Given the description of an element on the screen output the (x, y) to click on. 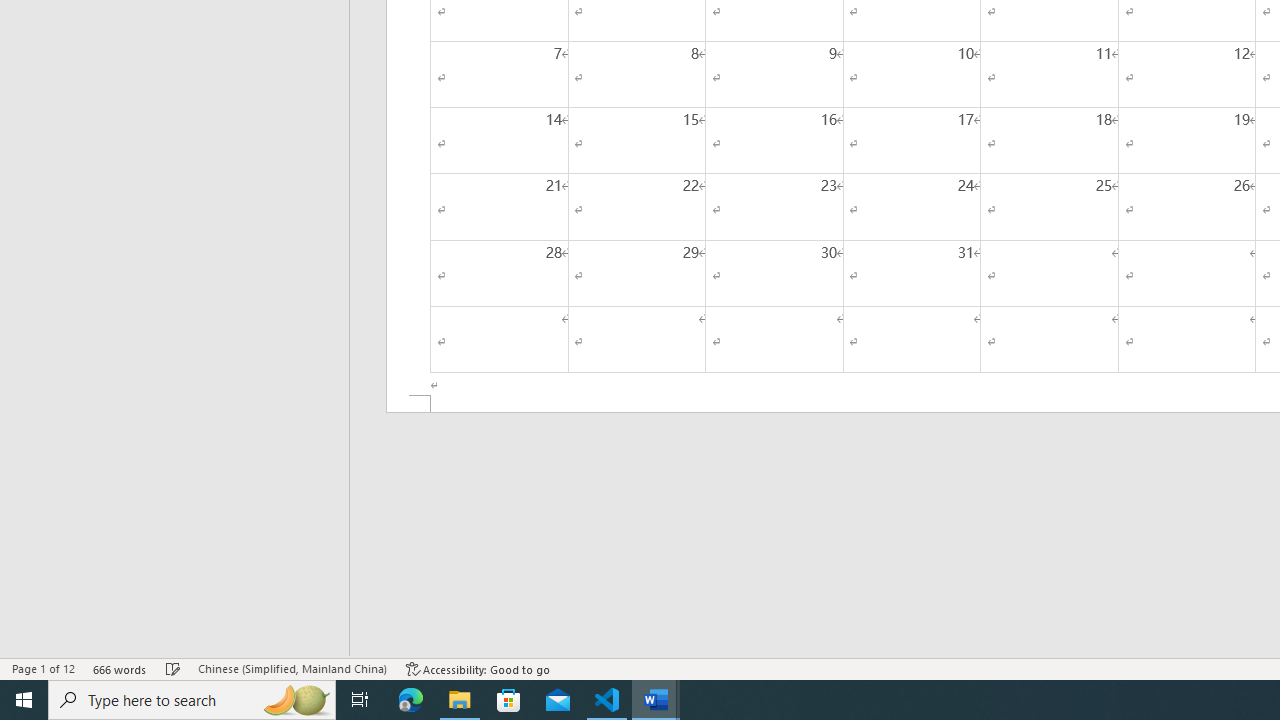
Word Count 666 words (119, 668)
Word - 2 running windows (656, 699)
Microsoft Edge (411, 699)
File Explorer - 1 running window (460, 699)
Page Number Page 1 of 12 (43, 668)
